Given the description of an element on the screen output the (x, y) to click on. 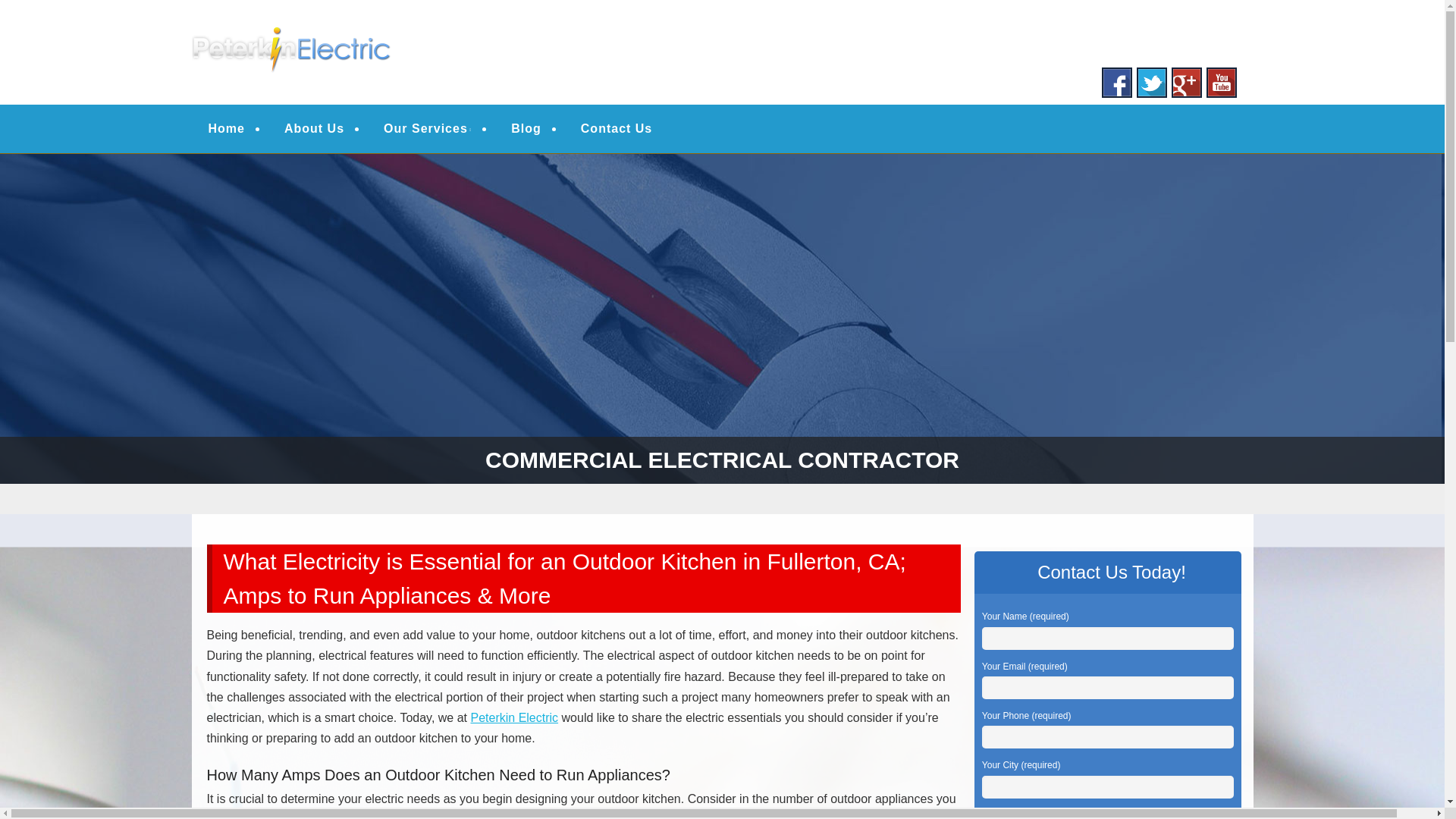
Our Services (427, 128)
Contact Us (616, 128)
Blog (525, 128)
Home (225, 128)
About Us (314, 128)
Peterkin Electric (513, 717)
